Given the description of an element on the screen output the (x, y) to click on. 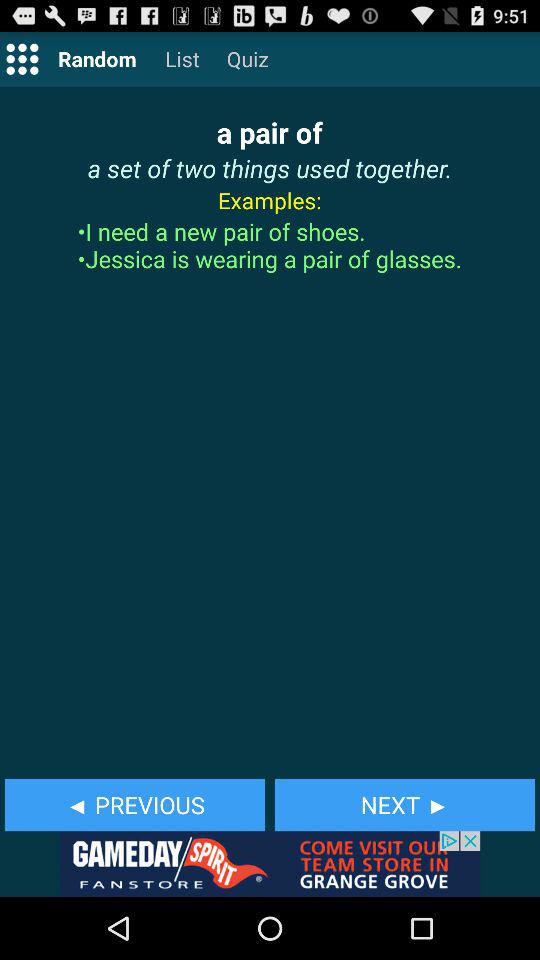
gameday spirit advertisements (270, 864)
